Given the description of an element on the screen output the (x, y) to click on. 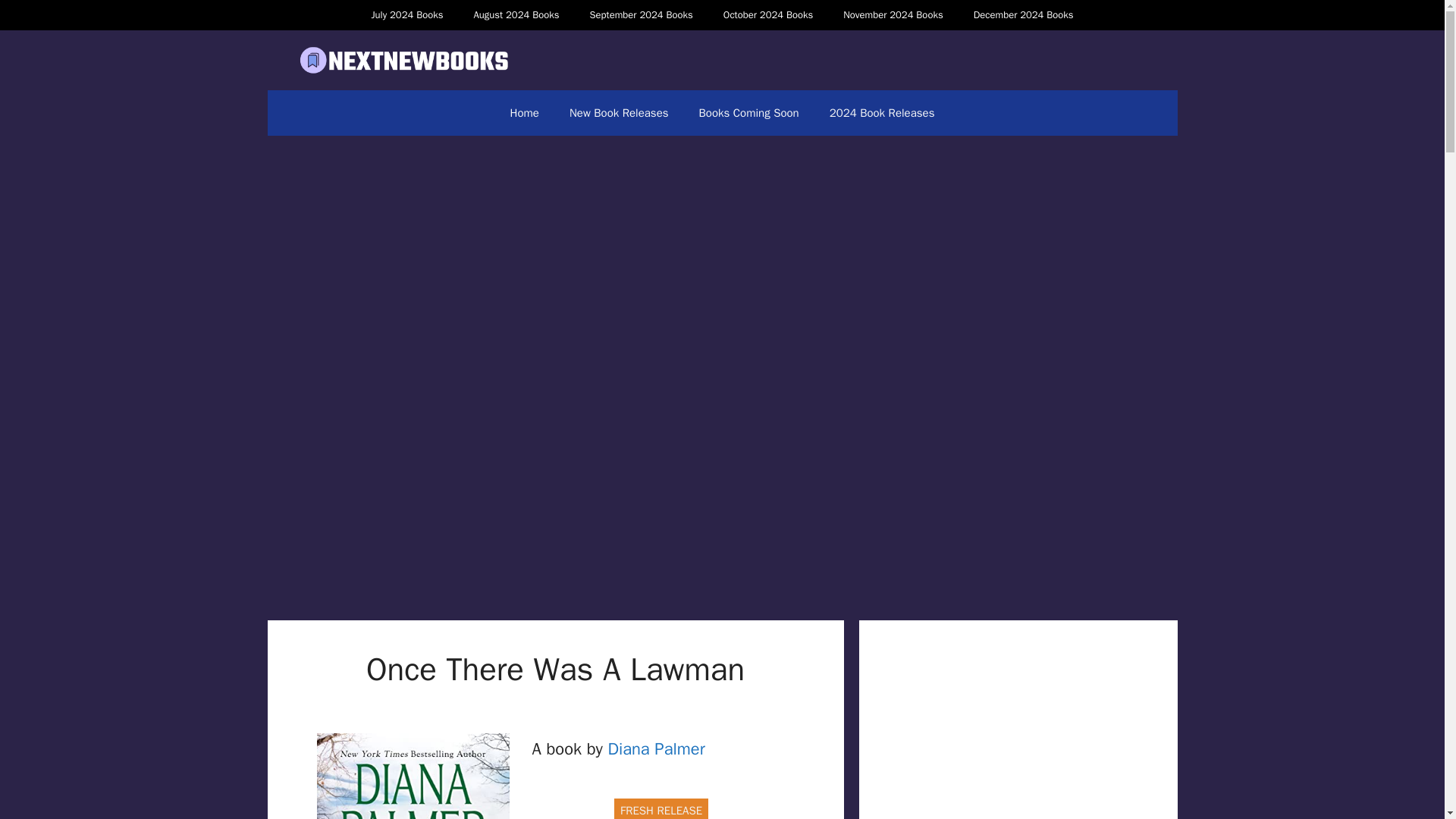
2024 Book Releases (881, 112)
New Book Releases (619, 112)
December 2024 Books (1023, 15)
Diana Palmer (655, 749)
Books Coming Soon (748, 112)
FRESH RELEASE (660, 808)
July 2024 Books (406, 15)
September 2024 Books (640, 15)
November 2024 Books (893, 15)
Home (524, 112)
